Given the description of an element on the screen output the (x, y) to click on. 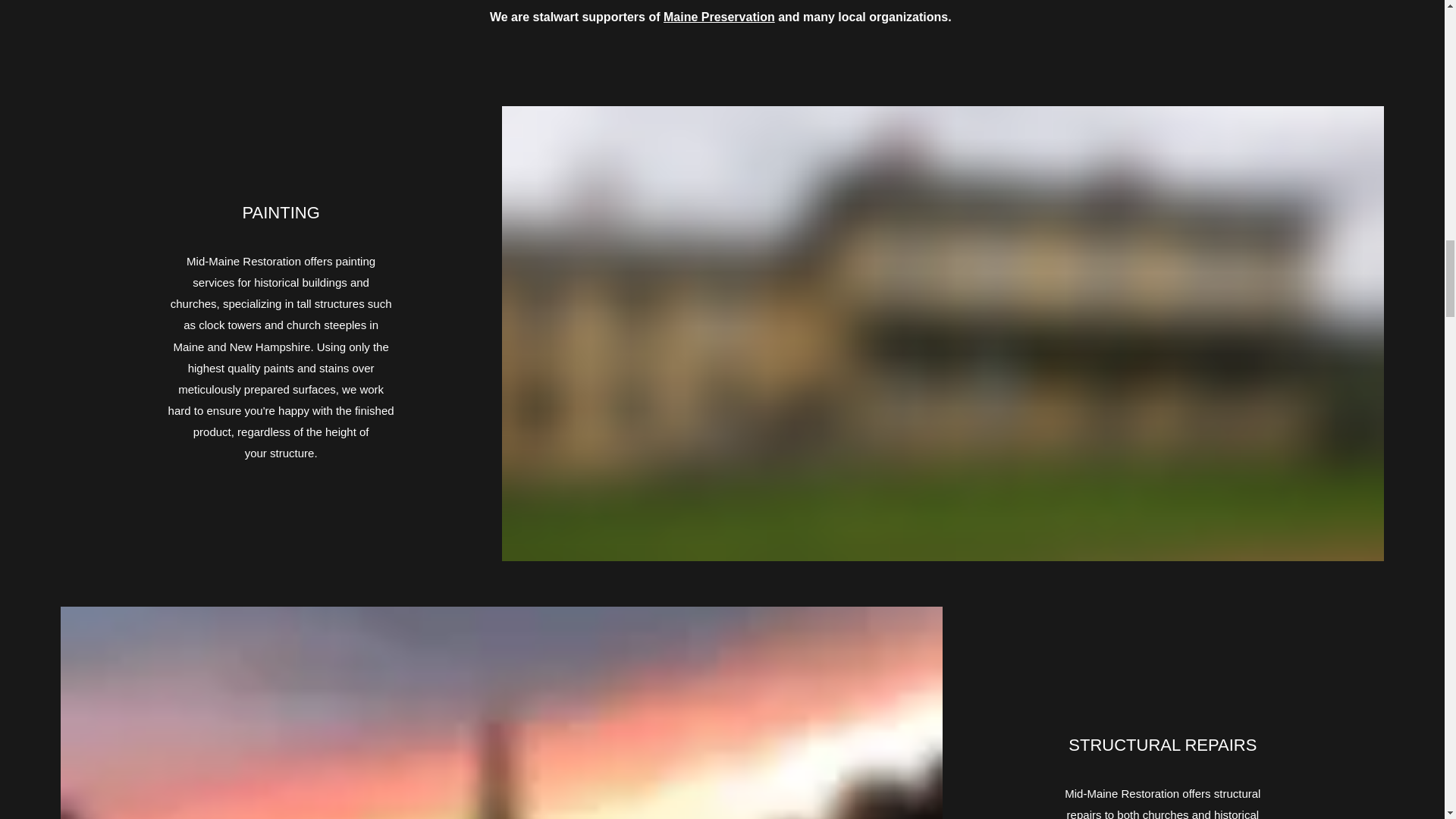
Maine Preservation (718, 16)
